Given the description of an element on the screen output the (x, y) to click on. 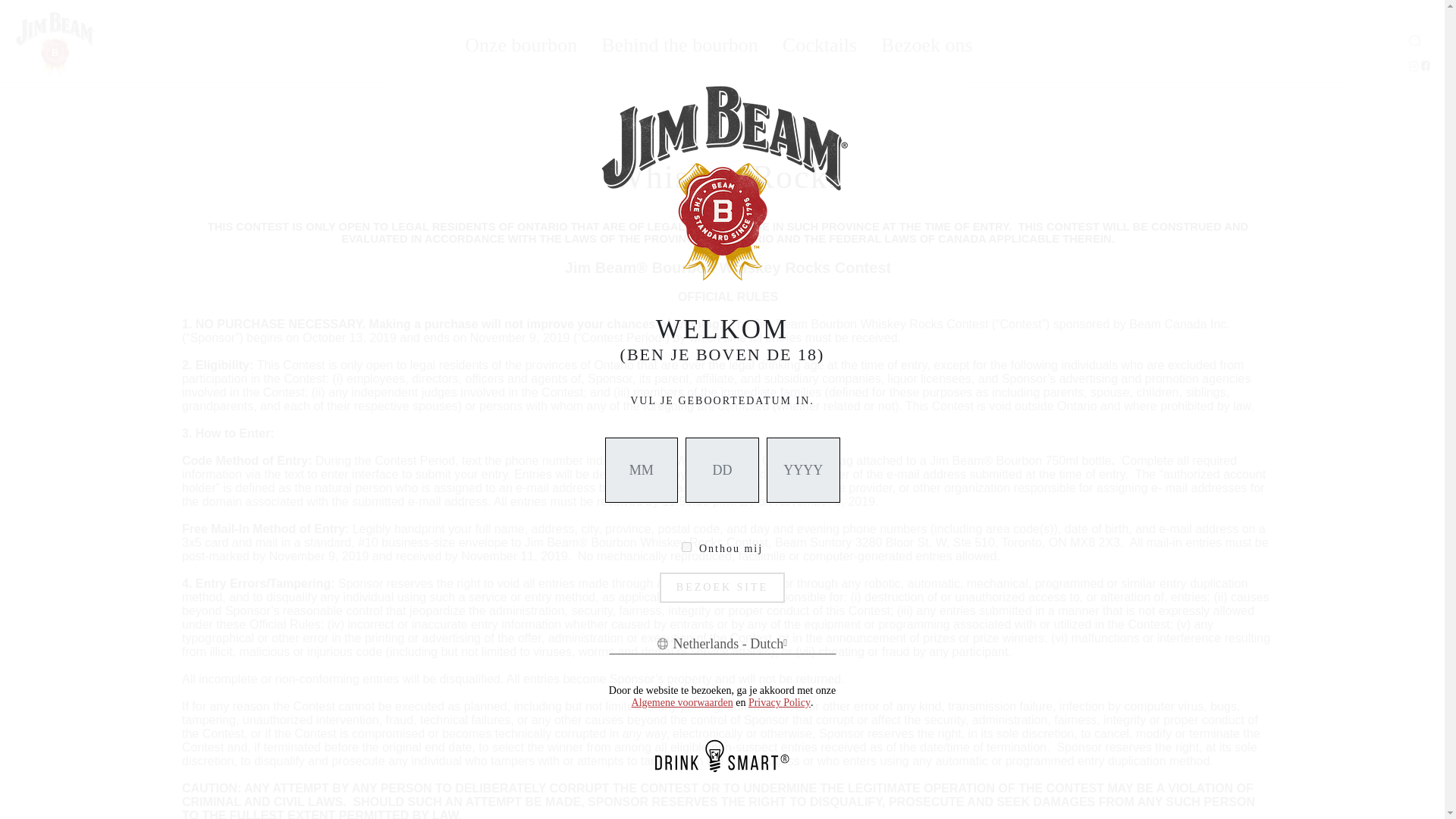
Age gate date input (721, 469)
Age gate remember user checkbox (686, 547)
Onze bourbon (520, 42)
Age gate month input (641, 469)
Instagram Link -Jim Beam (1415, 66)
on (686, 547)
Algemene voorwaarden (682, 702)
Behind the bourbon (679, 42)
Privacy Policy (779, 702)
Age gate year input (803, 469)
BEZOEK SITE (721, 587)
Cocktails (820, 42)
 Netherlands - Dutch (721, 643)
Bezoek ons (926, 42)
